Given the description of an element on the screen output the (x, y) to click on. 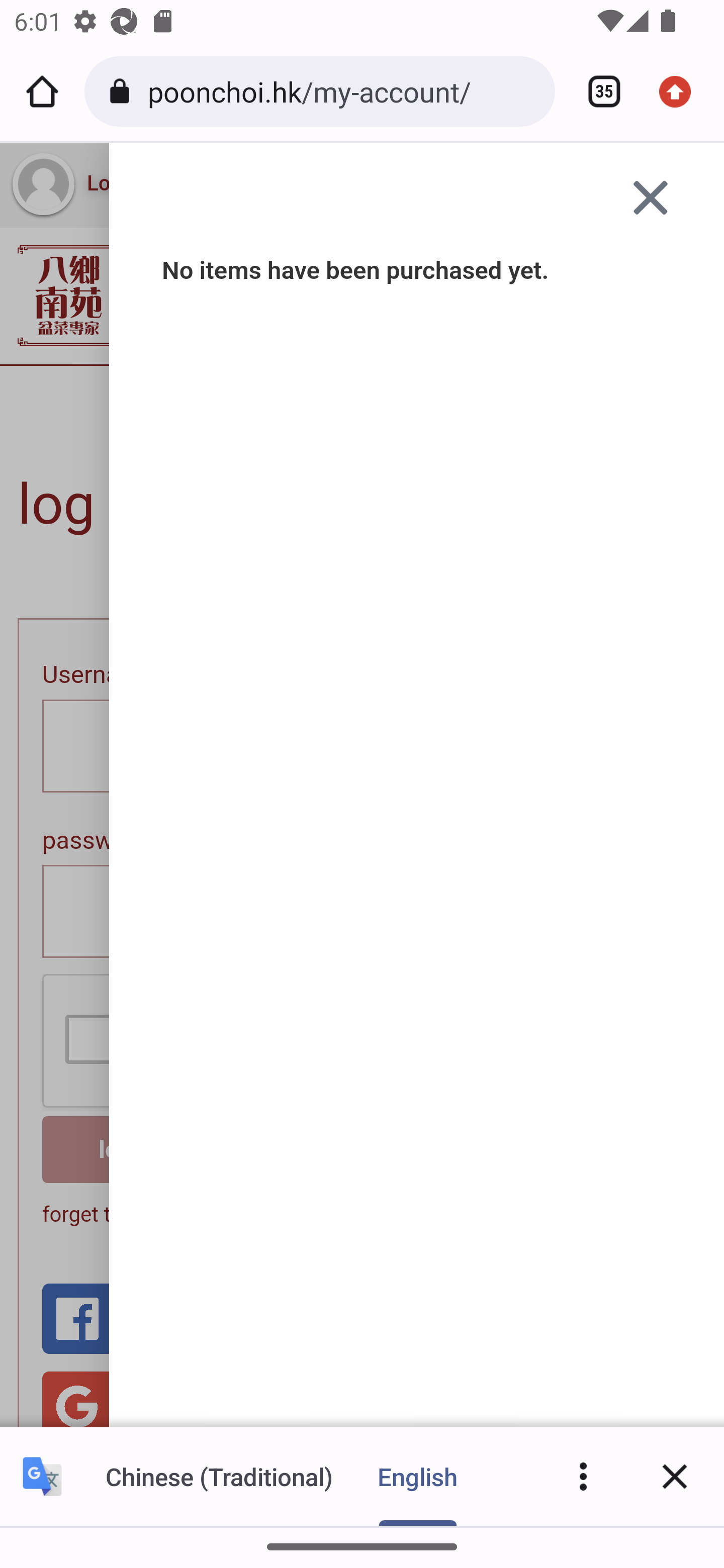
Home (42, 91)
Connection is secure (122, 91)
Switch or close tabs (597, 91)
Update available. More options (681, 91)
poonchoi.hk/my-account/ (343, 90)
Chinese (Traditional) (219, 1475)
More options (582, 1475)
Close (674, 1475)
